Given the description of an element on the screen output the (x, y) to click on. 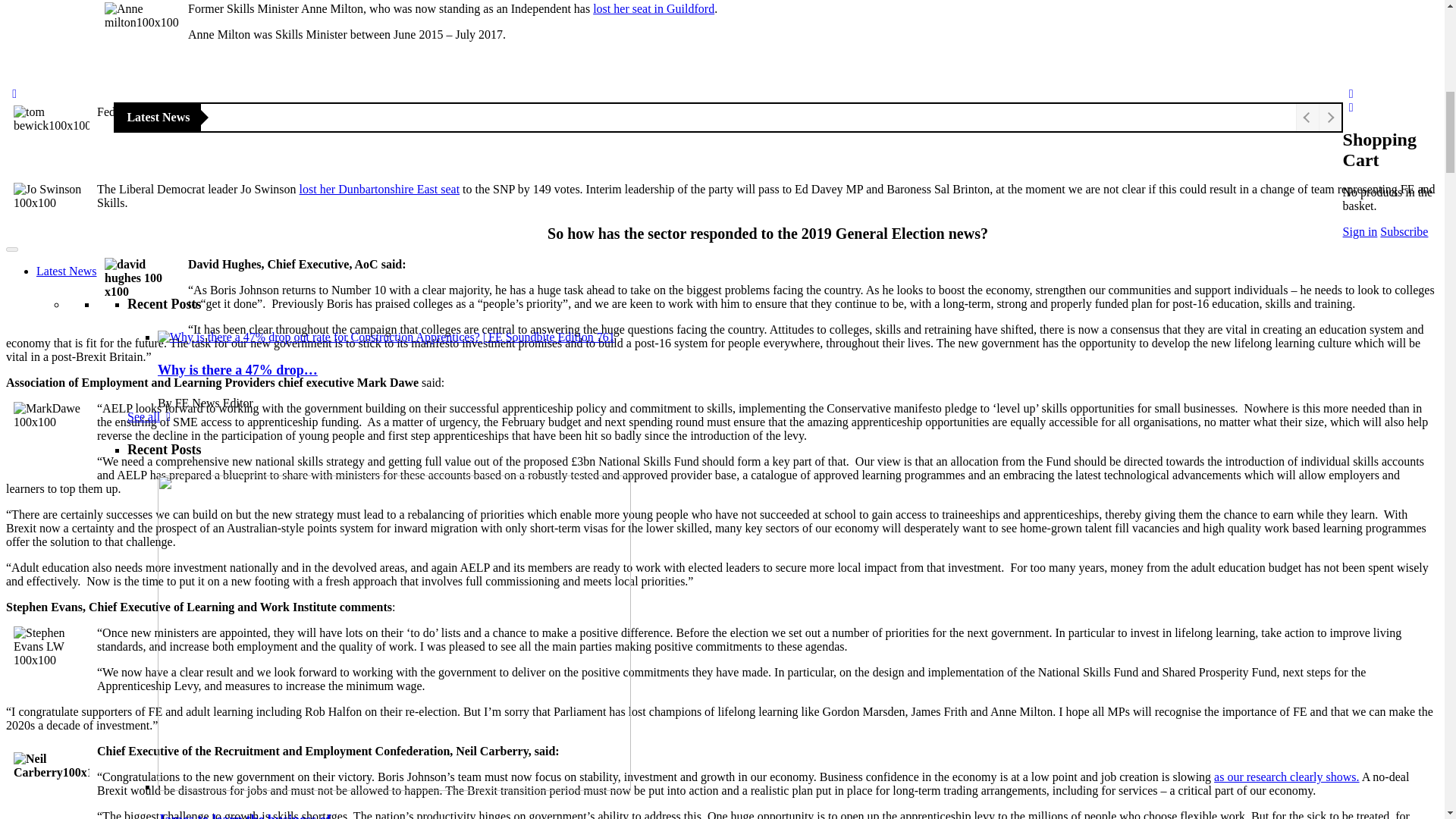
See all (152, 47)
See all (152, 192)
Exclusives (62, 784)
Skills and Apprenticeships - News and Insights (242, 744)
See all (152, 643)
Work and leadership (177, 730)
Subscribe (166, 771)
Sign in (240, 771)
EdTech - News on Education Technology (228, 703)
